Given the description of an element on the screen output the (x, y) to click on. 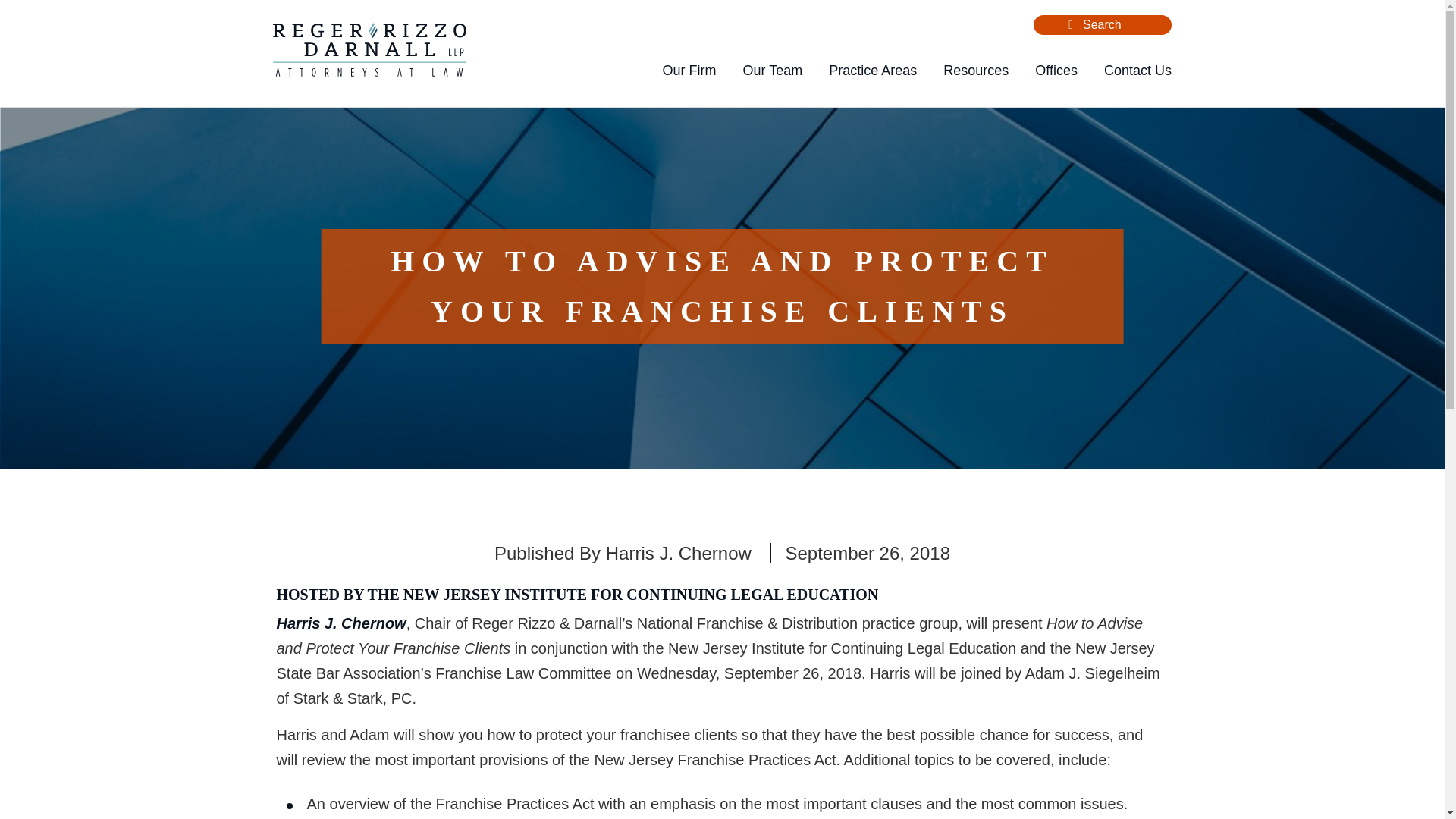
Our Firm (689, 71)
Our Team (772, 71)
Resources (976, 71)
Harris J. Chernow (678, 552)
Practice Areas (872, 71)
Offices (1056, 71)
Contact Us (1137, 71)
Search (1070, 24)
Harris J. Chernow (341, 623)
